Given the description of an element on the screen output the (x, y) to click on. 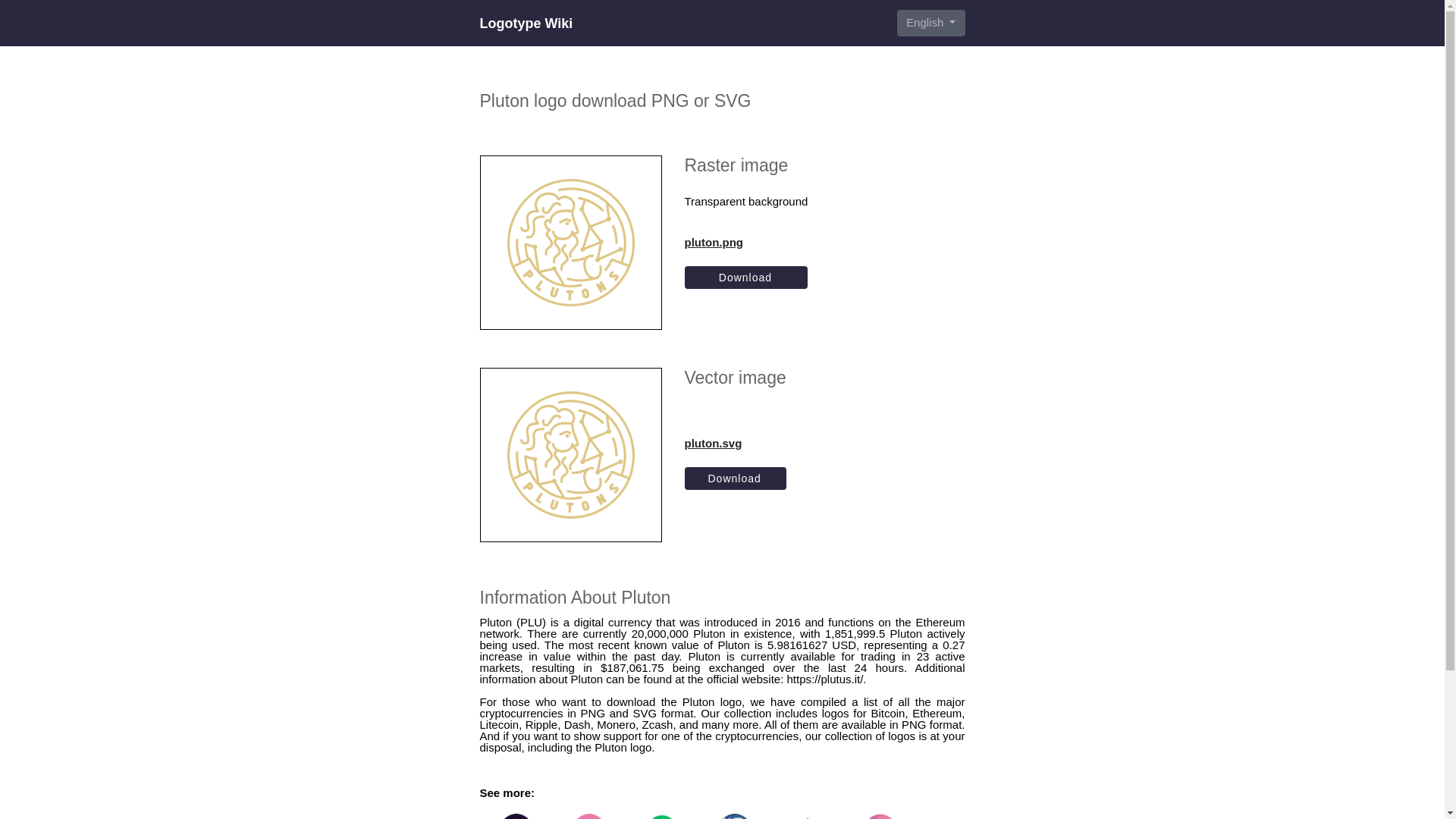
English (930, 22)
Download (746, 277)
pluton.png (746, 241)
Download (735, 477)
pluton.svg (735, 443)
Logotype Wiki (525, 23)
